Given the description of an element on the screen output the (x, y) to click on. 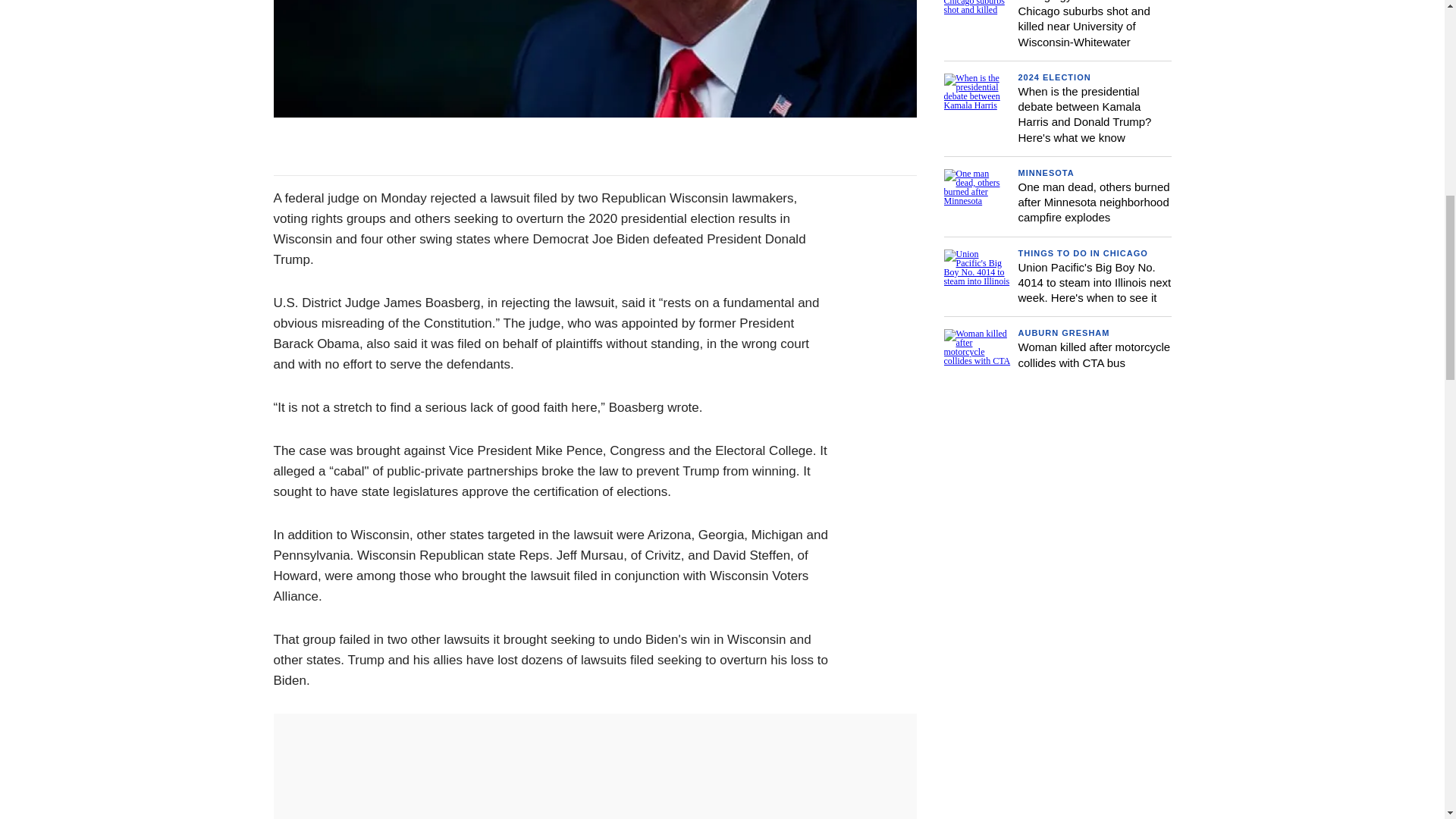
THINGS TO DO IN CHICAGO (1082, 252)
2024 ELECTION (1053, 76)
MINNESOTA (1045, 172)
